Given the description of an element on the screen output the (x, y) to click on. 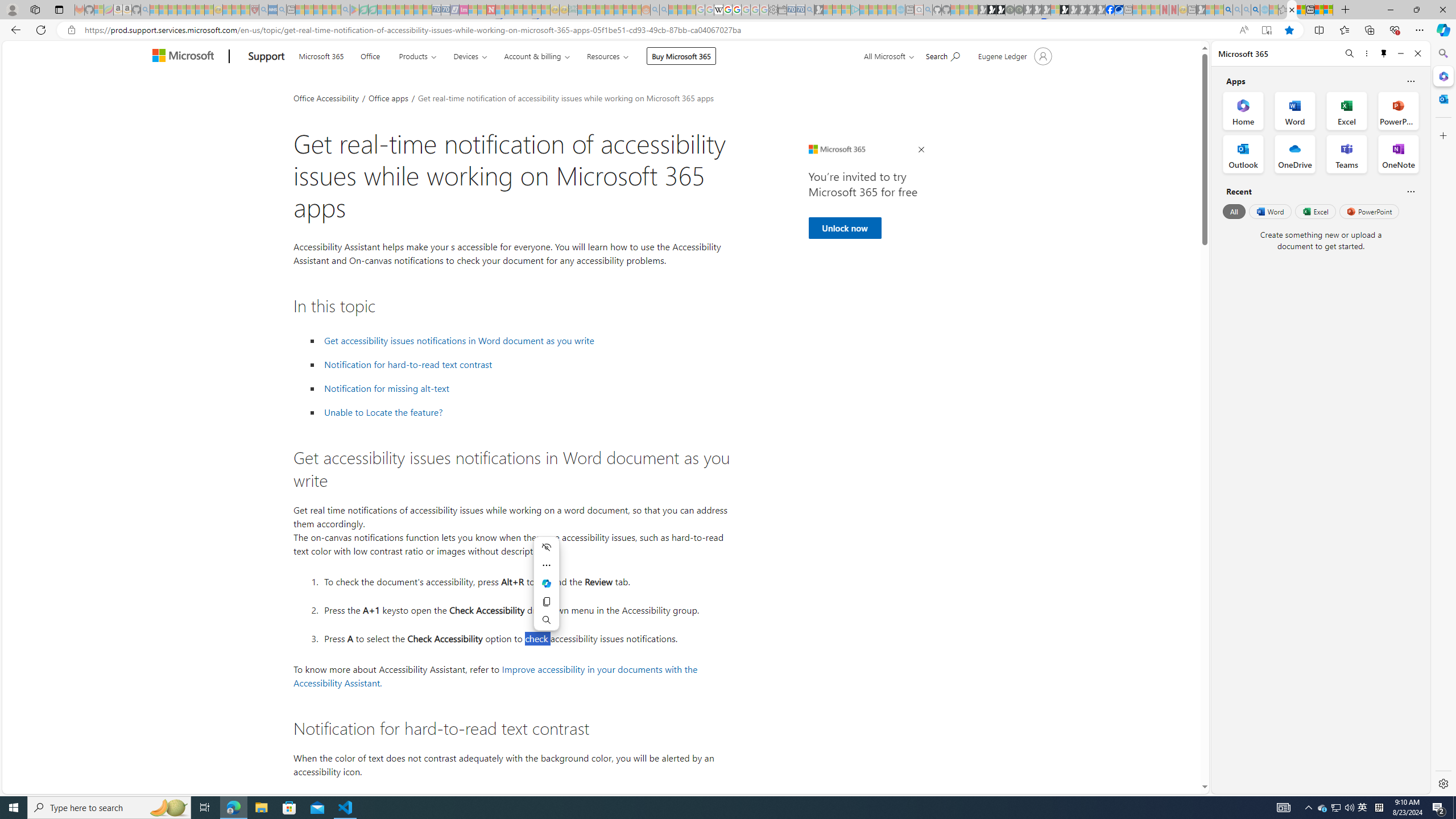
All (1233, 210)
Target page - Wikipedia (718, 9)
More actions (546, 565)
Privacy Help Center - Policies Help (726, 9)
